Given the description of an element on the screen output the (x, y) to click on. 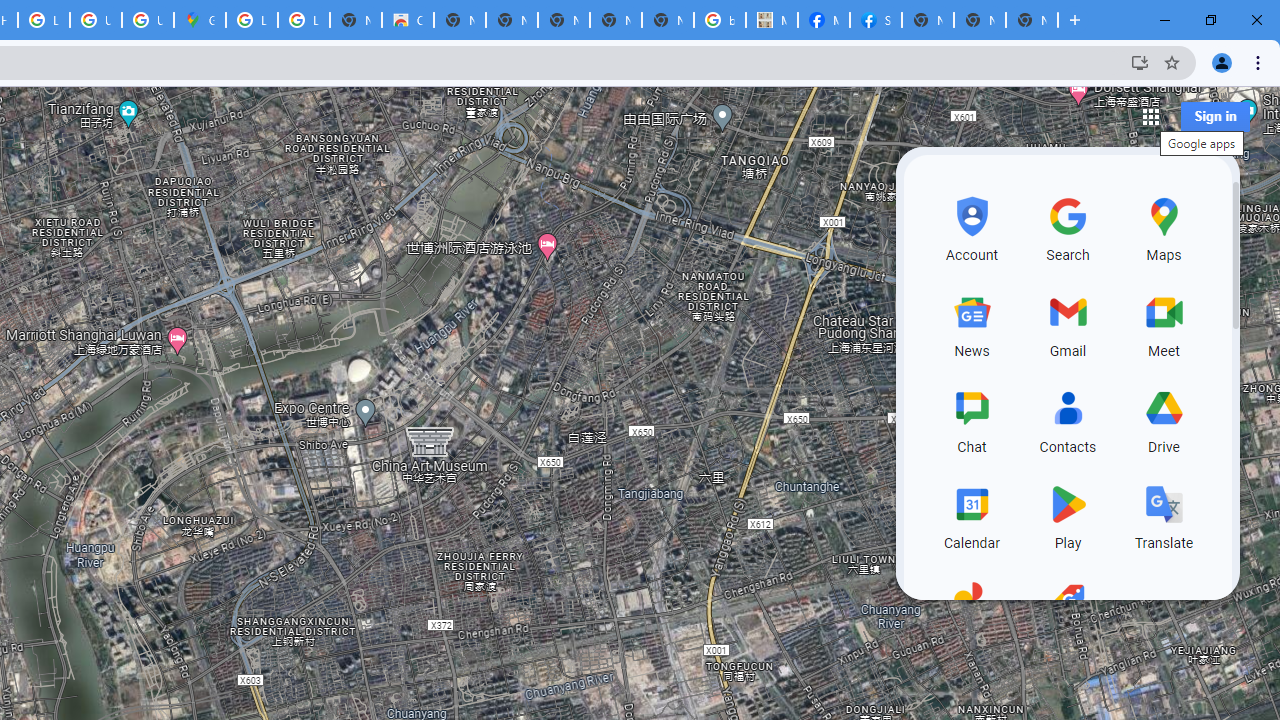
Sign Up for Facebook (875, 20)
Google Maps (200, 20)
Miley Cyrus | Facebook (823, 20)
Chrome Web Store (407, 20)
